Given the description of an element on the screen output the (x, y) to click on. 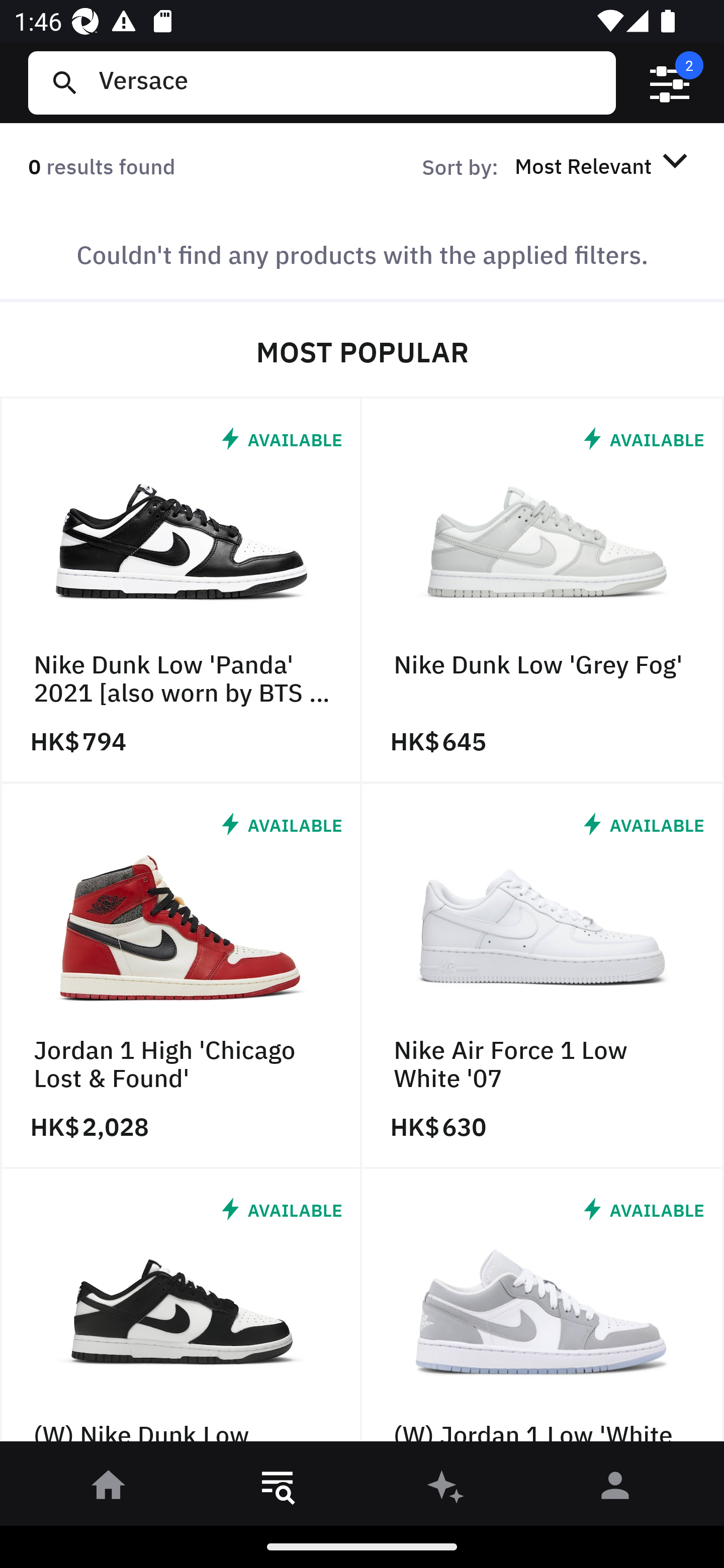
Versace (349, 82)
 (669, 82)
Most Relevant  (604, 165)
 AVAILABLE Nike Dunk Low 'Grey Fog' HK$ 645 (543, 591)
 AVAILABLE Nike Air Force 1 Low White '07 HK$ 630 (543, 976)
 AVAILABLE (W) Nike Dunk Low 'Panda' 2021 (181, 1309)
 AVAILABLE (W) Jordan 1 Low 'White Wolf Grey' (543, 1309)
󰋜 (108, 1488)
󱎸 (277, 1488)
󰫢 (446, 1488)
󰀄 (615, 1488)
